Given the description of an element on the screen output the (x, y) to click on. 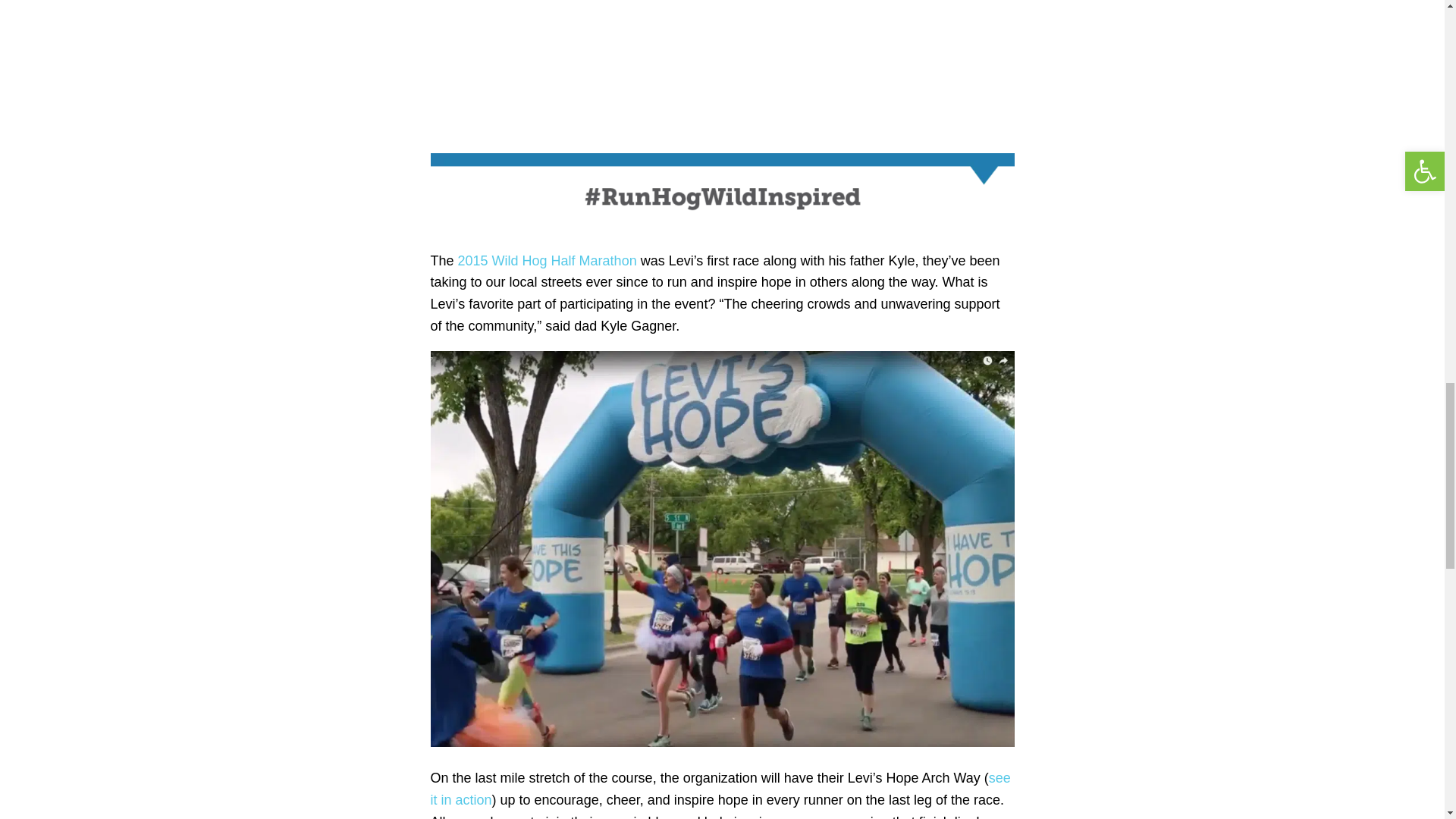
2015 Wild Hog Half Marathon (547, 260)
see it in action (720, 788)
